Given the description of an element on the screen output the (x, y) to click on. 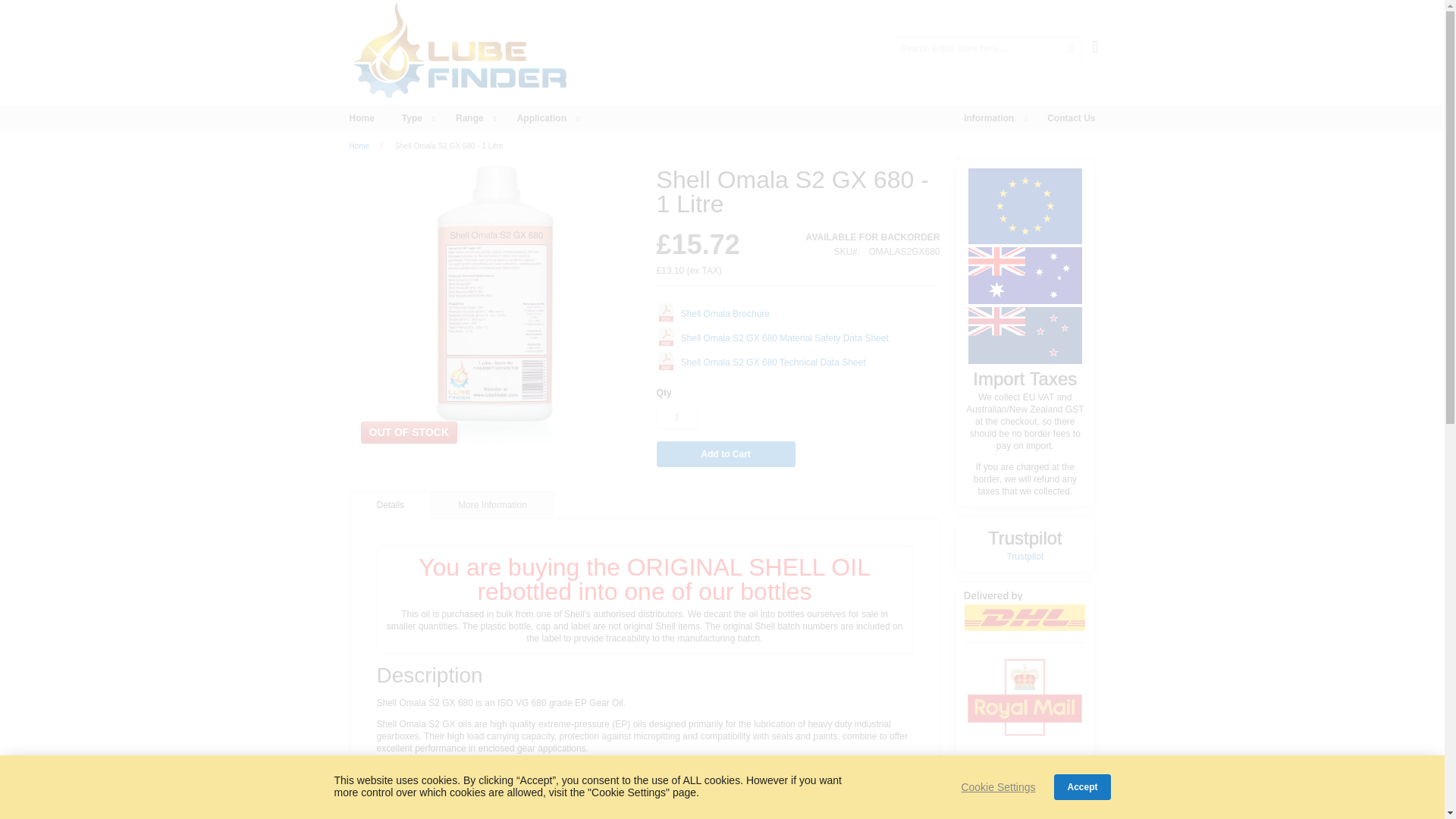
1 (676, 416)
Add to Cart (725, 453)
Range (472, 118)
Go to Home Page (359, 145)
Home (360, 118)
Type (415, 118)
Lube Finder Logo (459, 52)
Availability (873, 236)
Qty (676, 416)
